Given the description of an element on the screen output the (x, y) to click on. 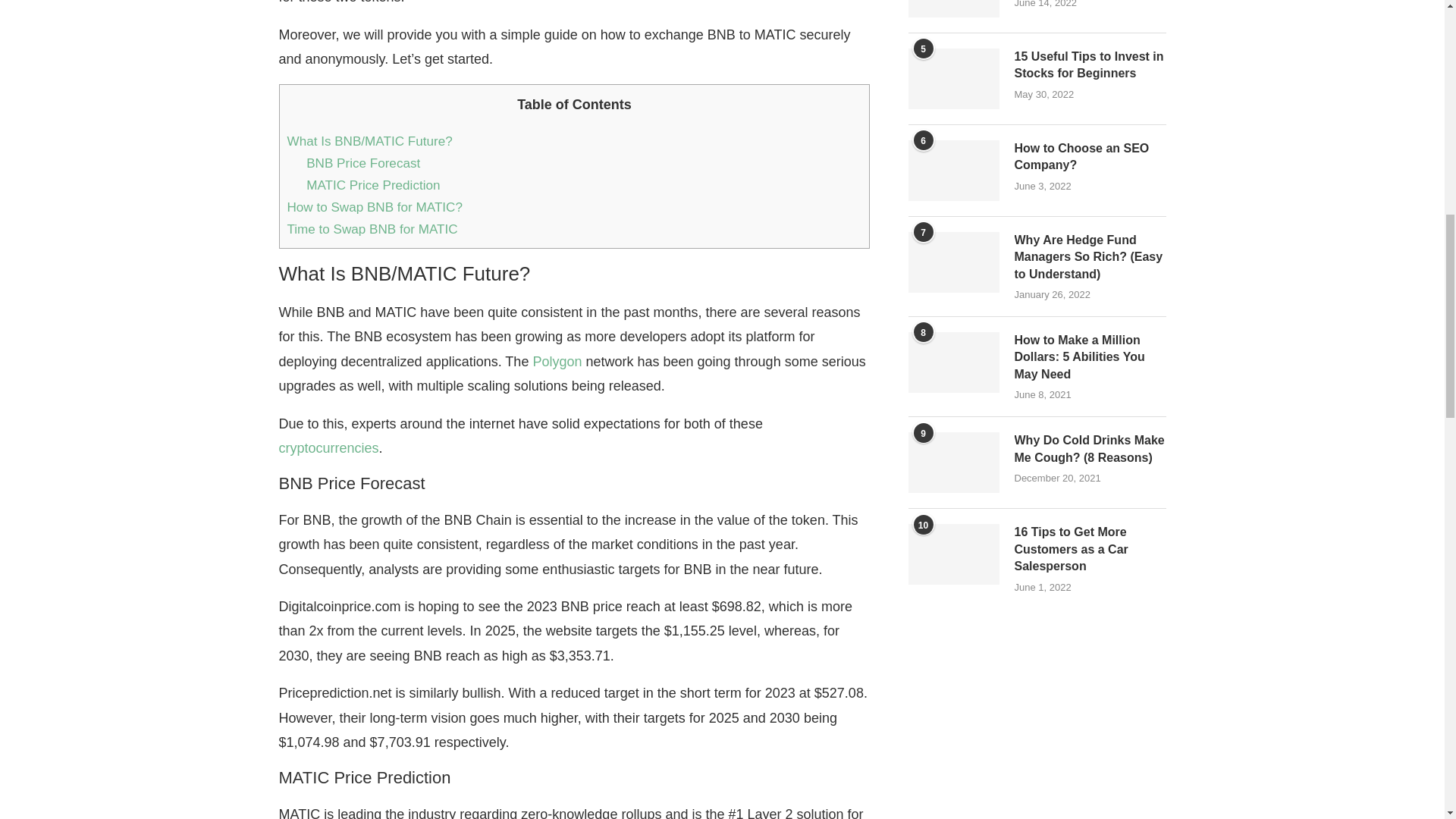
Polygon (556, 361)
Time to Swap BNB for MATIC  (373, 228)
How to Swap BNB for MATIC? (373, 206)
BNB Price Forecast (362, 163)
MATIC Price Prediction (372, 185)
cryptocurrencies (328, 447)
